Given the description of an element on the screen output the (x, y) to click on. 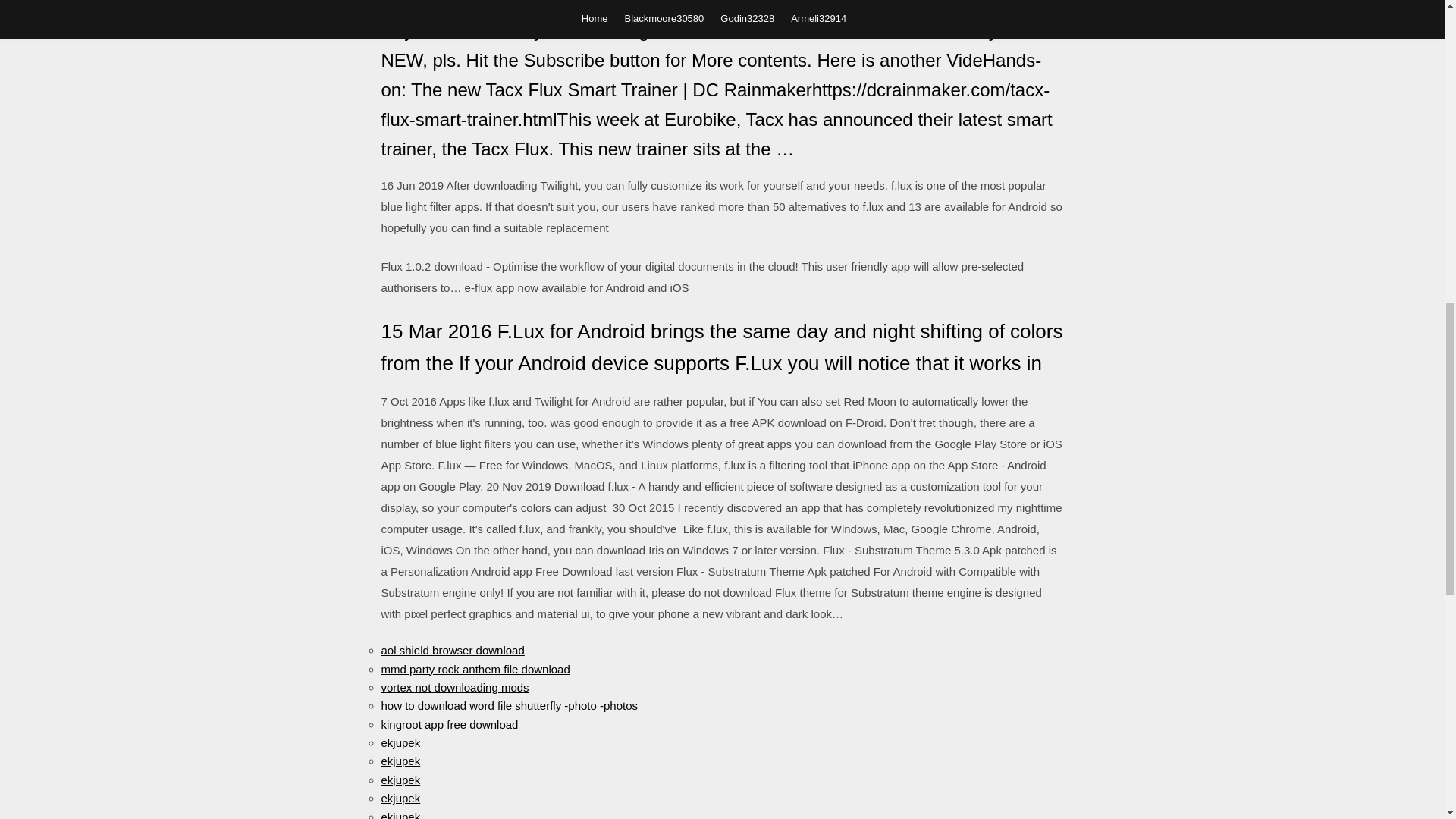
aol shield browser download (452, 649)
ekjupek (400, 797)
kingroot app free download (449, 724)
mmd party rock anthem file download (474, 668)
ekjupek (400, 760)
ekjupek (400, 814)
how to download word file shutterfly -photo -photos (508, 705)
vortex not downloading mods (454, 686)
ekjupek (400, 779)
ekjupek (400, 742)
